Given the description of an element on the screen output the (x, y) to click on. 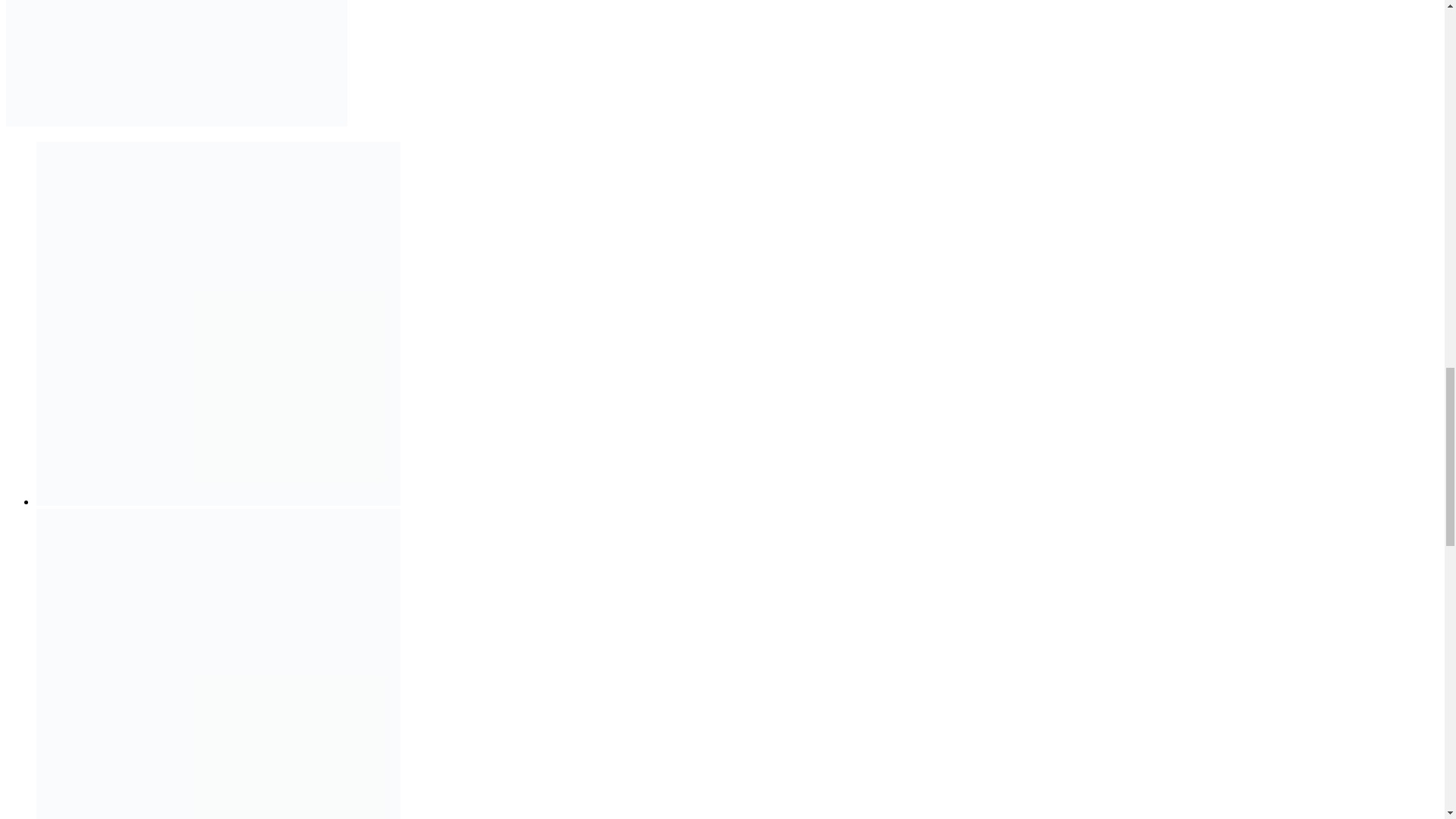
Vanessa Paradis2 (218, 663)
Vanessa Paradis (176, 63)
Vanessa Paradis1 (218, 323)
